Given the description of an element on the screen output the (x, y) to click on. 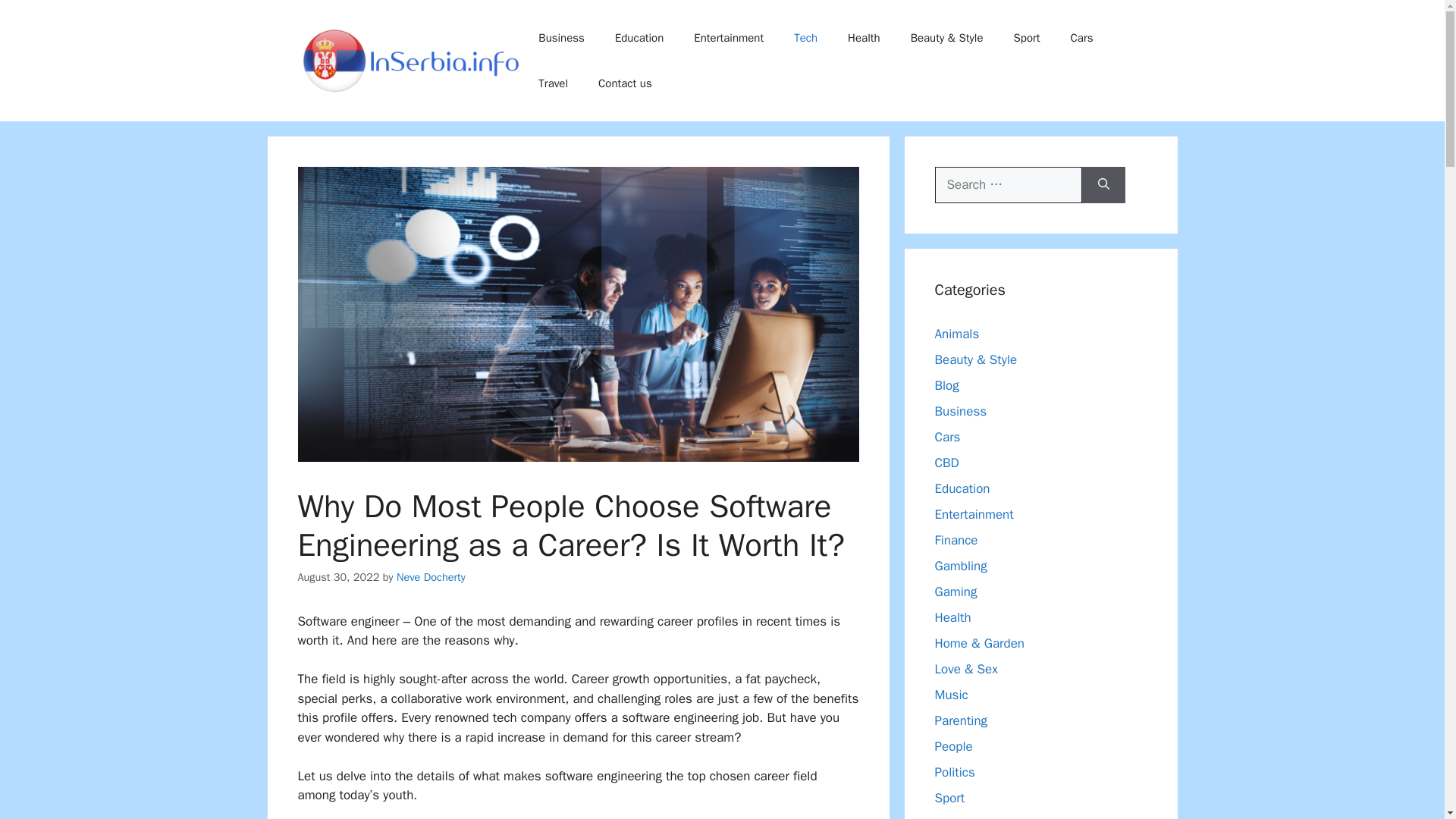
Neve Docherty (430, 576)
Contact us (624, 83)
Business (560, 37)
Gambling (960, 565)
Blog (946, 385)
Animals (956, 333)
View all posts by Neve Docherty (430, 576)
Education (962, 488)
Tech (805, 37)
Business (960, 411)
Health (952, 617)
Entertainment (728, 37)
CBD (946, 462)
Cars (946, 437)
Entertainment (973, 514)
